Given the description of an element on the screen output the (x, y) to click on. 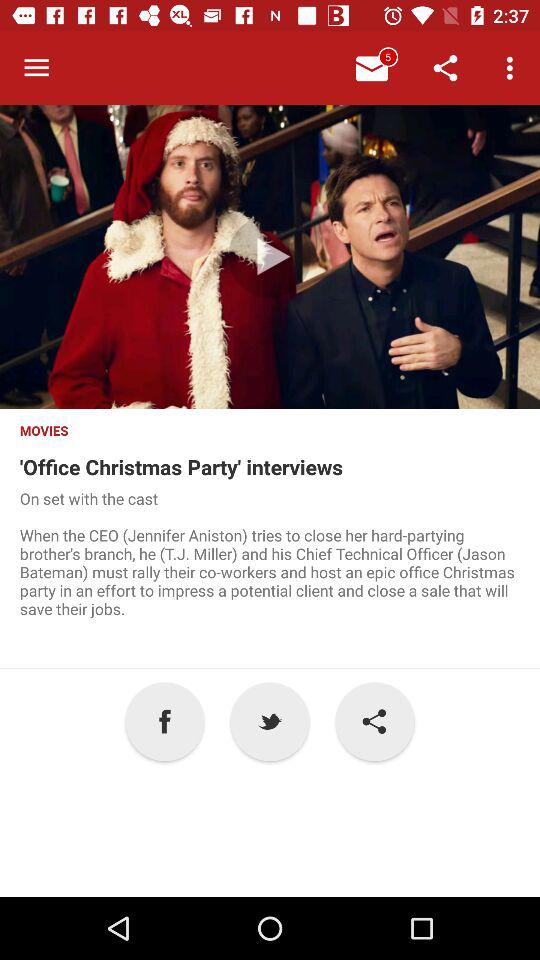
swipe until the a (164, 721)
